Given the description of an element on the screen output the (x, y) to click on. 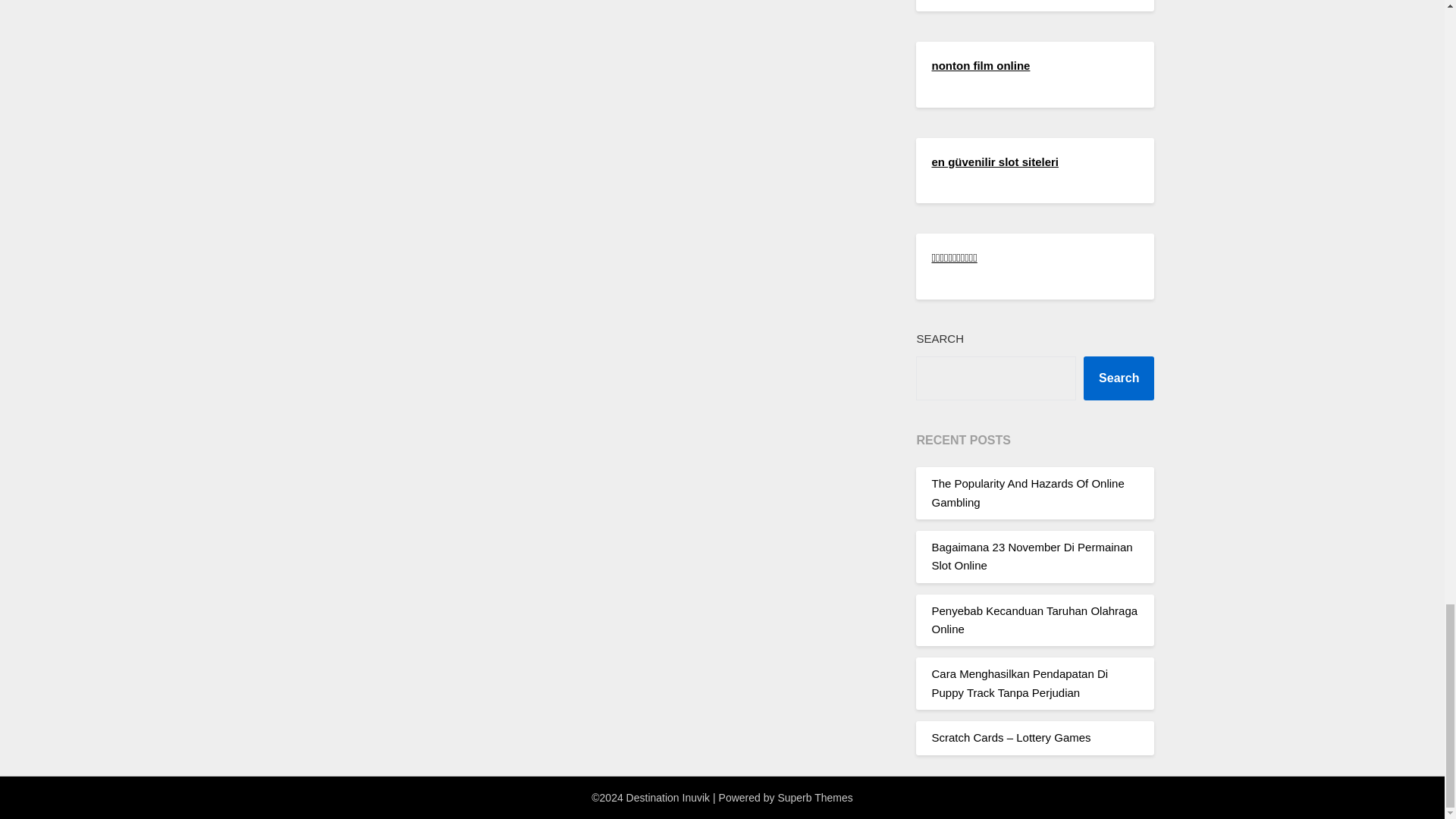
Search (1118, 378)
The Popularity And Hazards Of Online Gambling (1027, 491)
nonton film online (980, 65)
Bagaimana 23 November Di Permainan Slot Online (1031, 555)
